Given the description of an element on the screen output the (x, y) to click on. 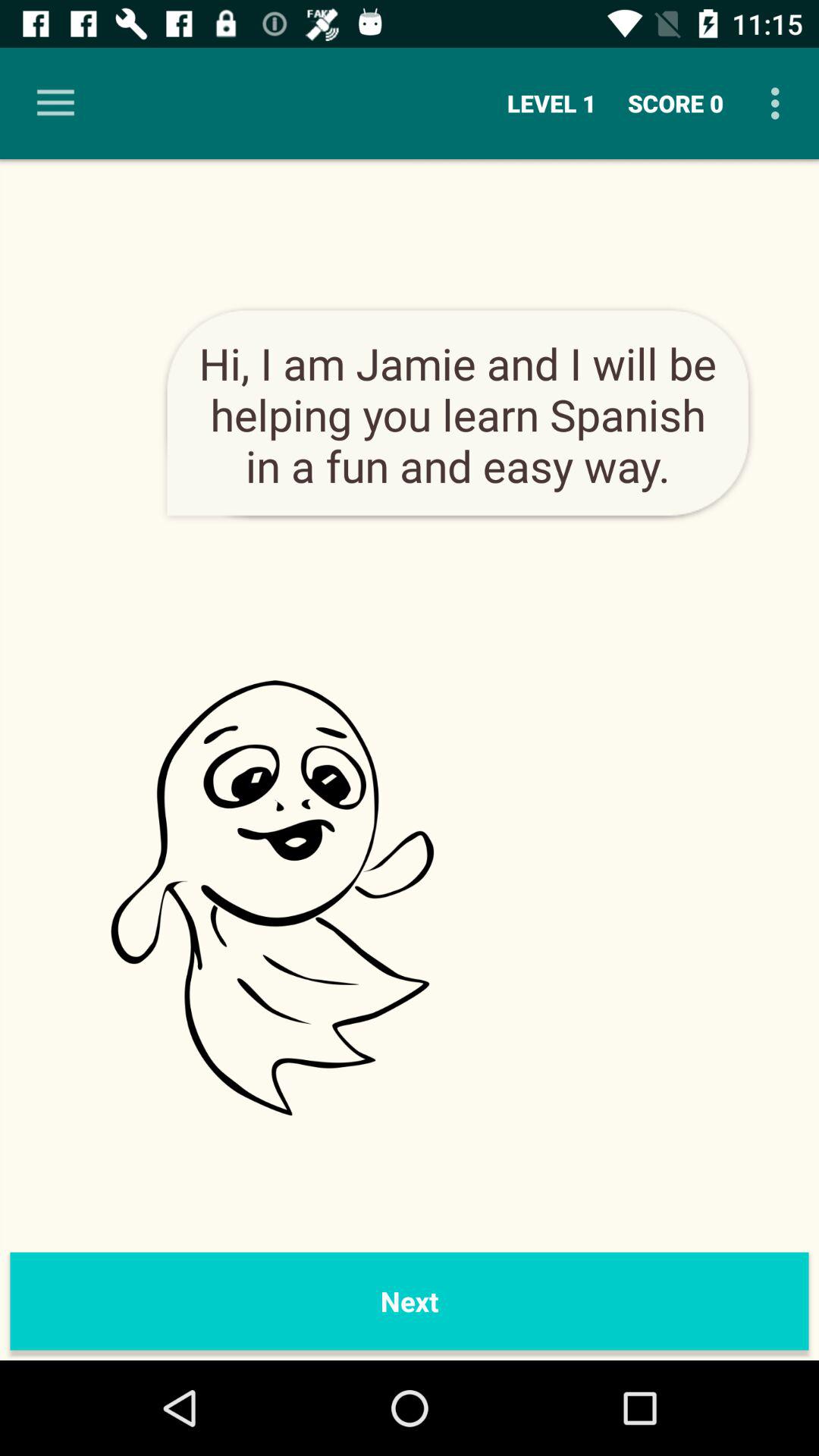
press the level 1 item (551, 103)
